Given the description of an element on the screen output the (x, y) to click on. 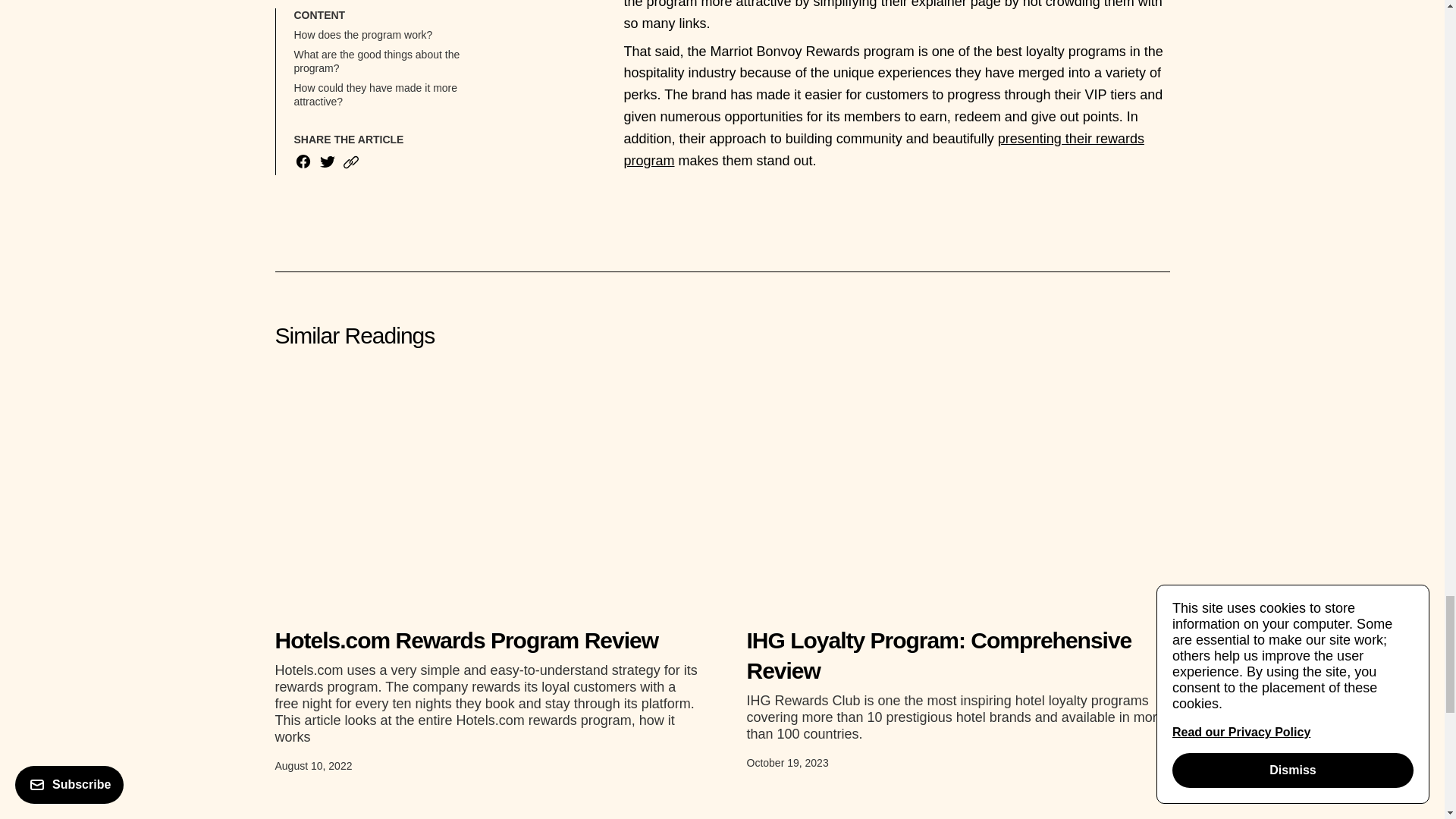
presenting their rewards program (882, 149)
